Given the description of an element on the screen output the (x, y) to click on. 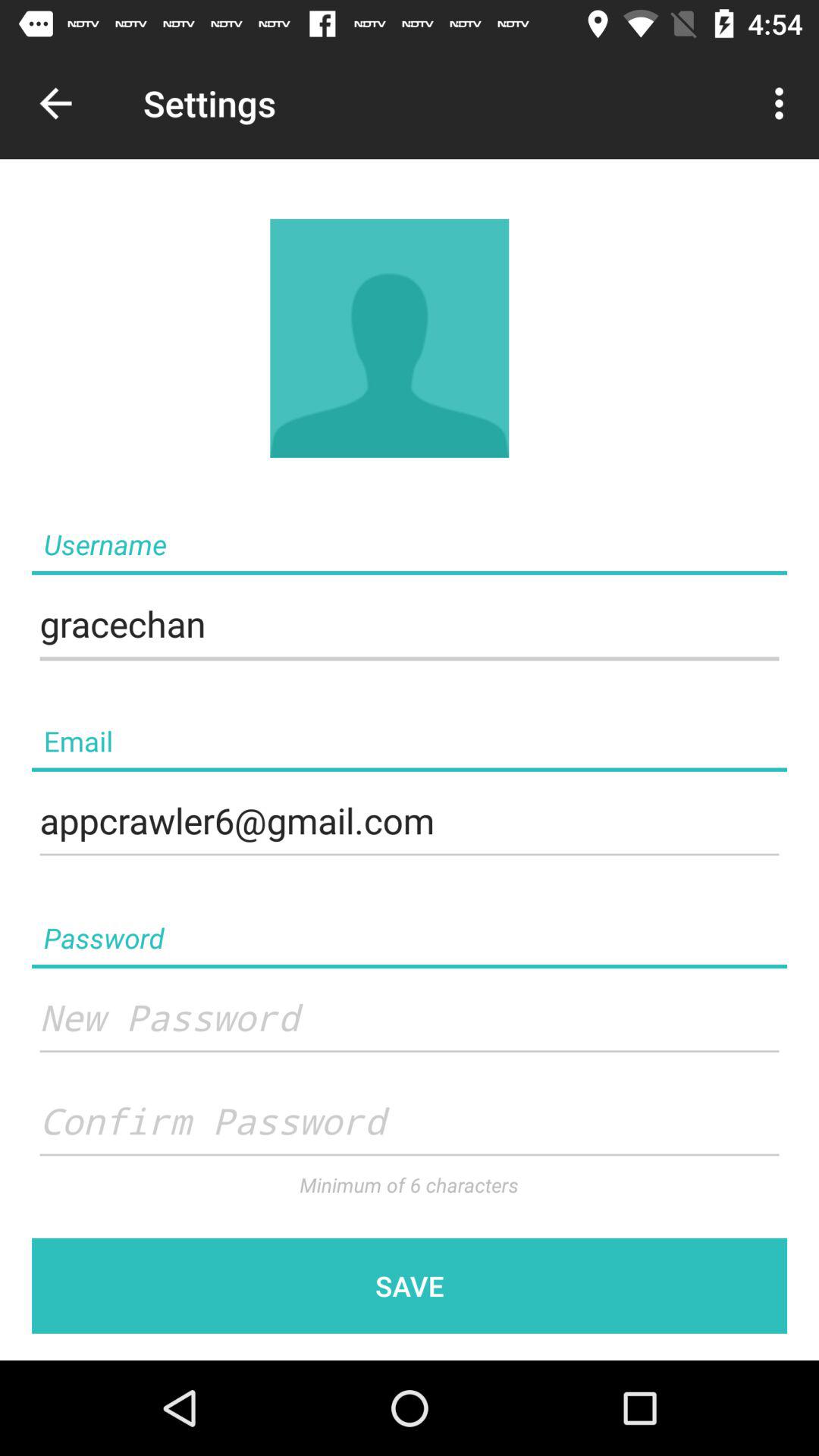
select text field which is below email on page (409, 820)
select text field which is above minimum of 6 characters on the page (409, 1121)
go to menu (785, 103)
click on the text field below username (409, 625)
click on save which is in the bottom of the page (409, 1286)
